Given the description of an element on the screen output the (x, y) to click on. 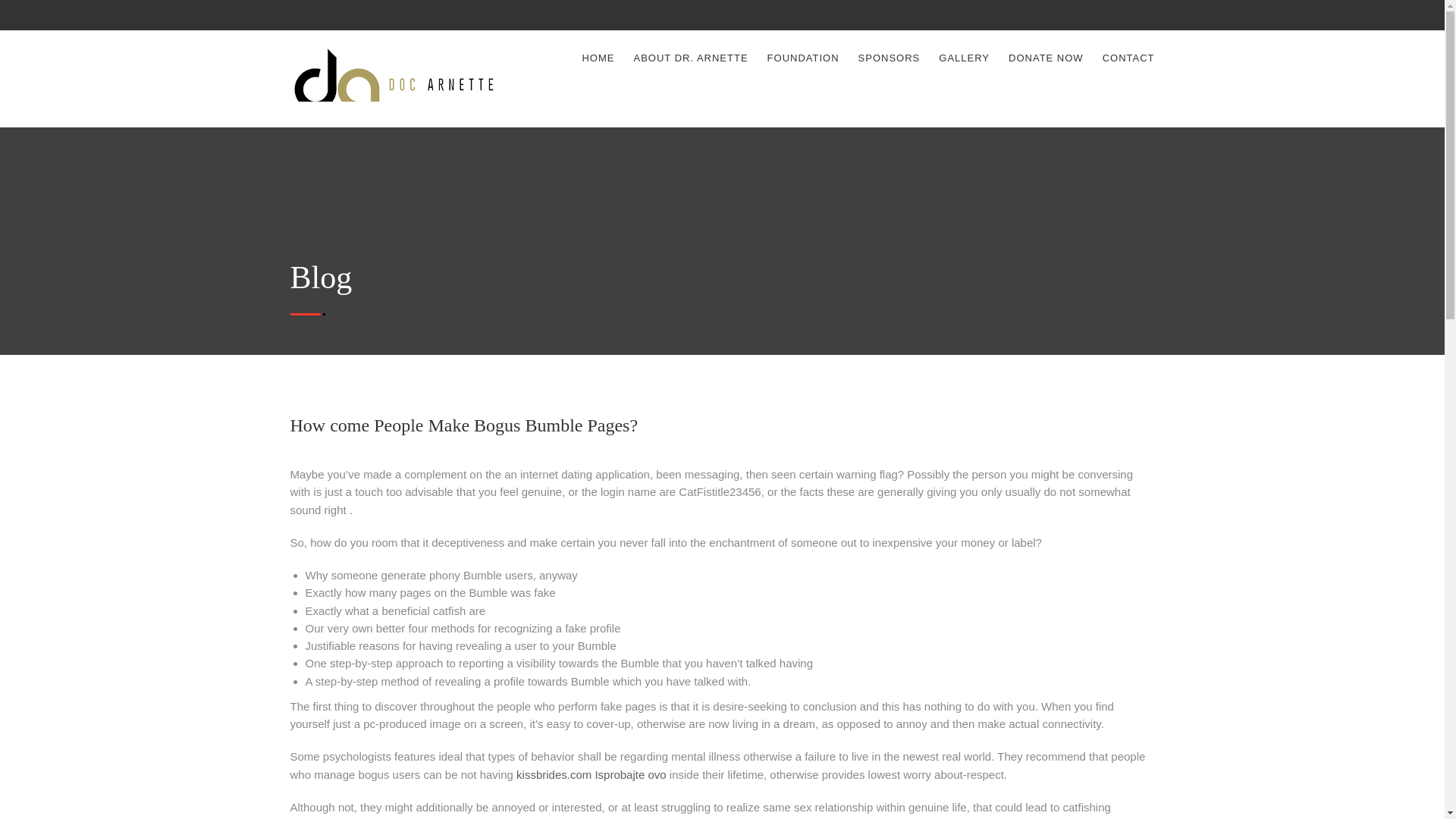
ABOUT DR. ARNETTE (690, 57)
CONTACT (1128, 57)
kissbrides.com Isprobajte ovo (591, 773)
FOUNDATION (803, 57)
SPONSORS (889, 57)
GALLERY (964, 57)
DONATE NOW (1046, 57)
